Given the description of an element on the screen output the (x, y) to click on. 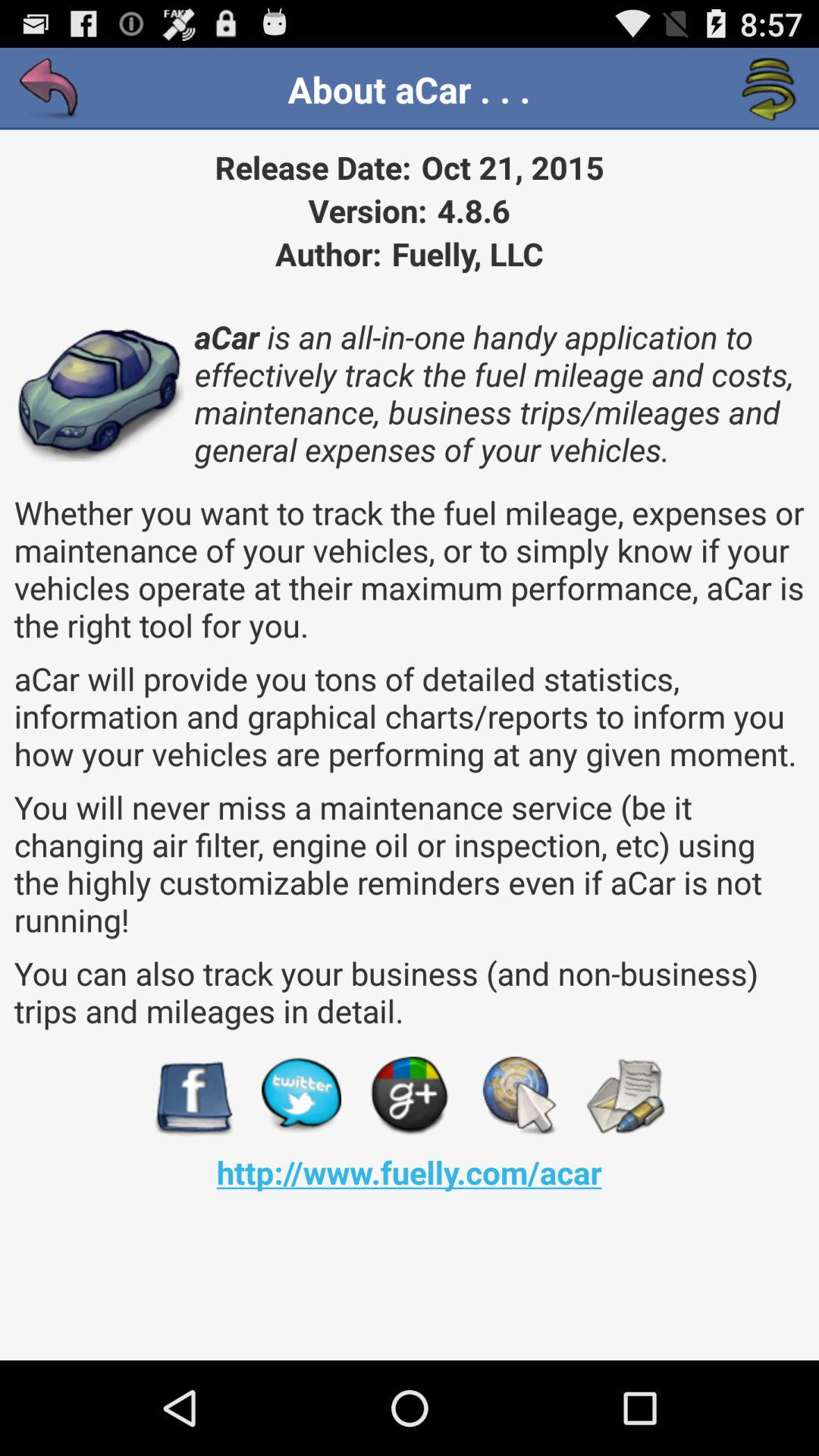
click for map (517, 1096)
